Given the description of an element on the screen output the (x, y) to click on. 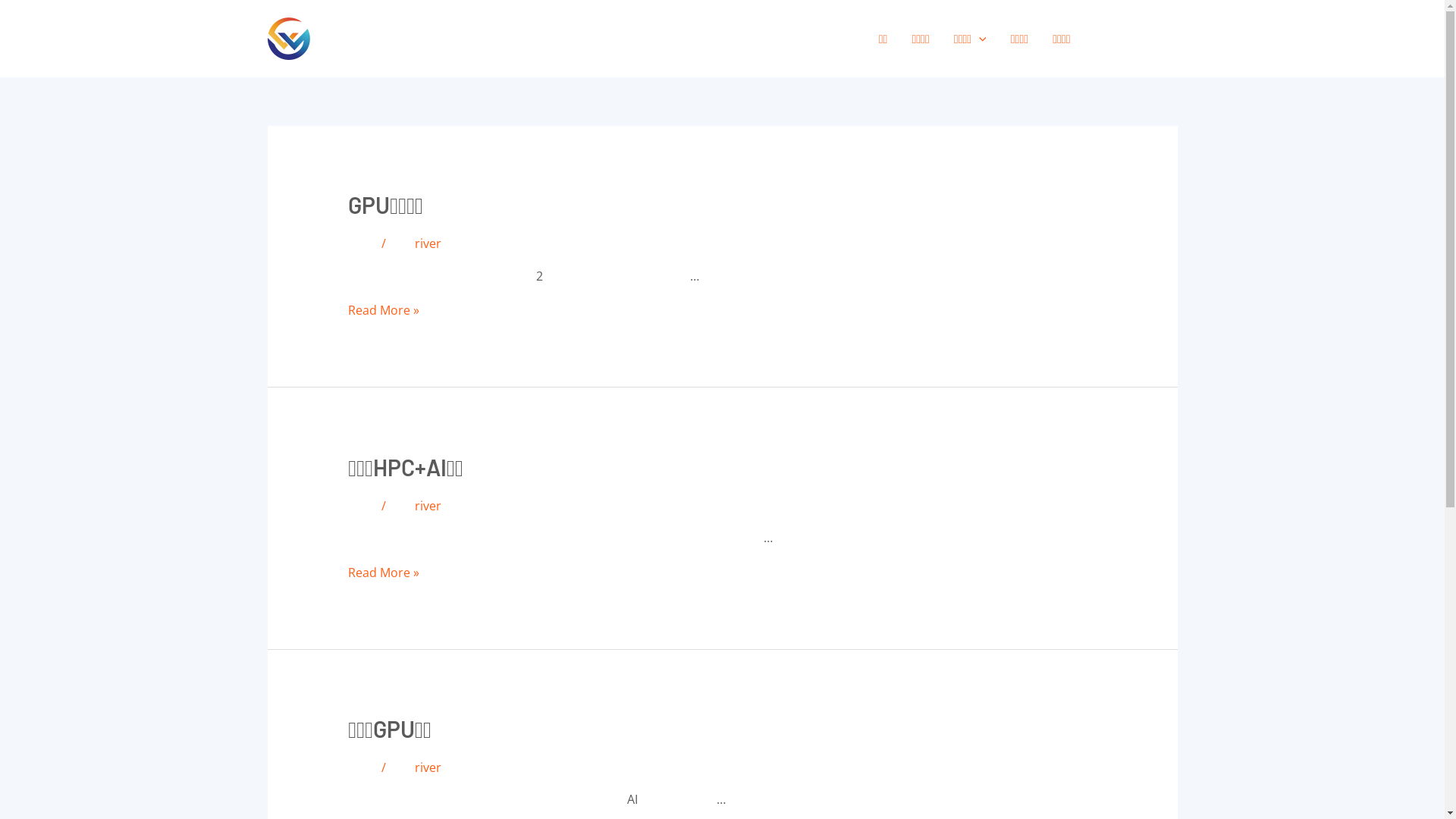
river Element type: text (427, 505)
river Element type: text (427, 243)
river Element type: text (427, 767)
